Given the description of an element on the screen output the (x, y) to click on. 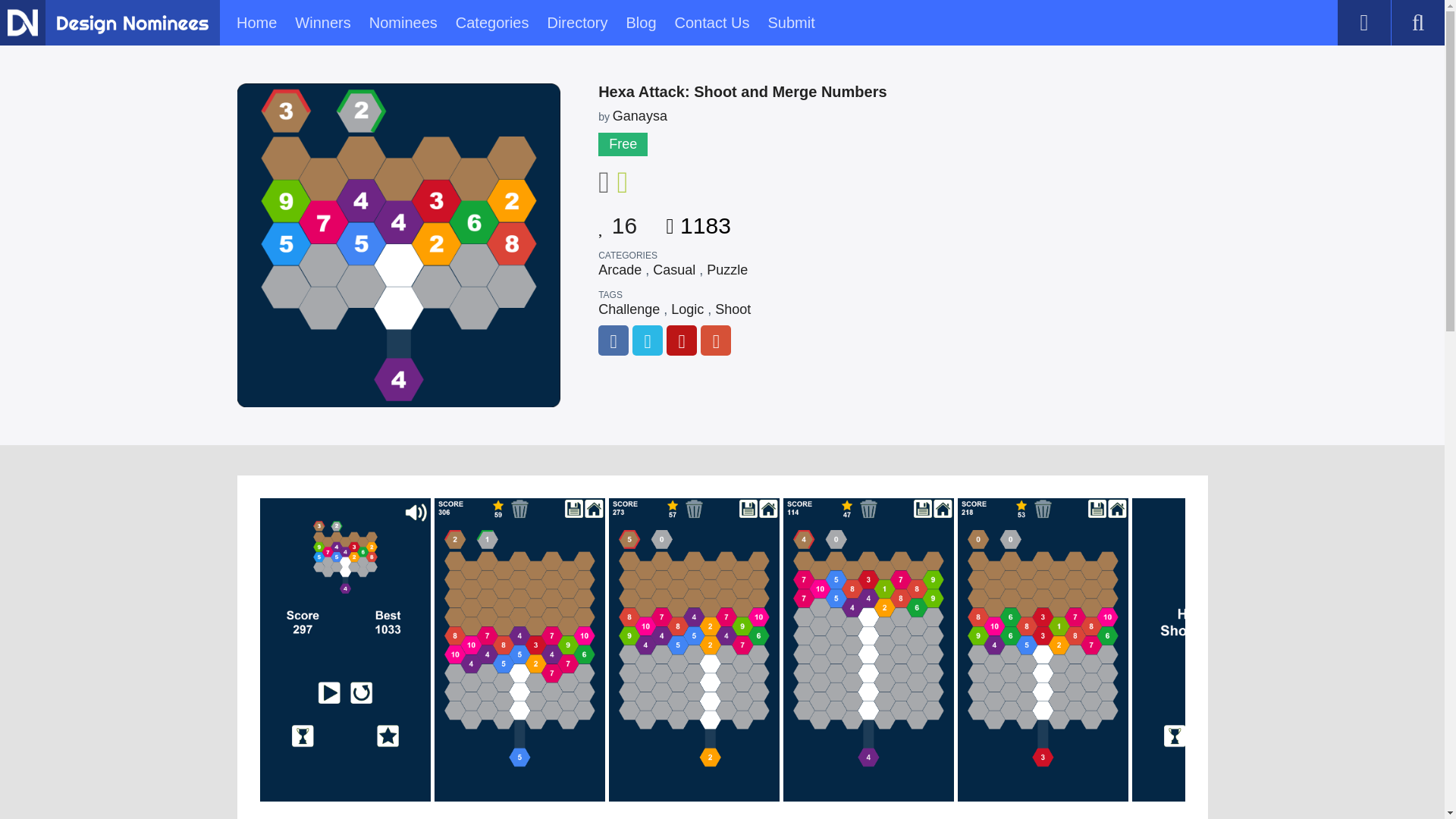
Challenge (628, 309)
Arcade (620, 269)
Submit (790, 22)
Casual (673, 269)
Design Nominees (22, 22)
Puzzle (727, 269)
Winners (322, 22)
Logic (687, 309)
Nominees (403, 22)
Directory (577, 22)
